Given the description of an element on the screen output the (x, y) to click on. 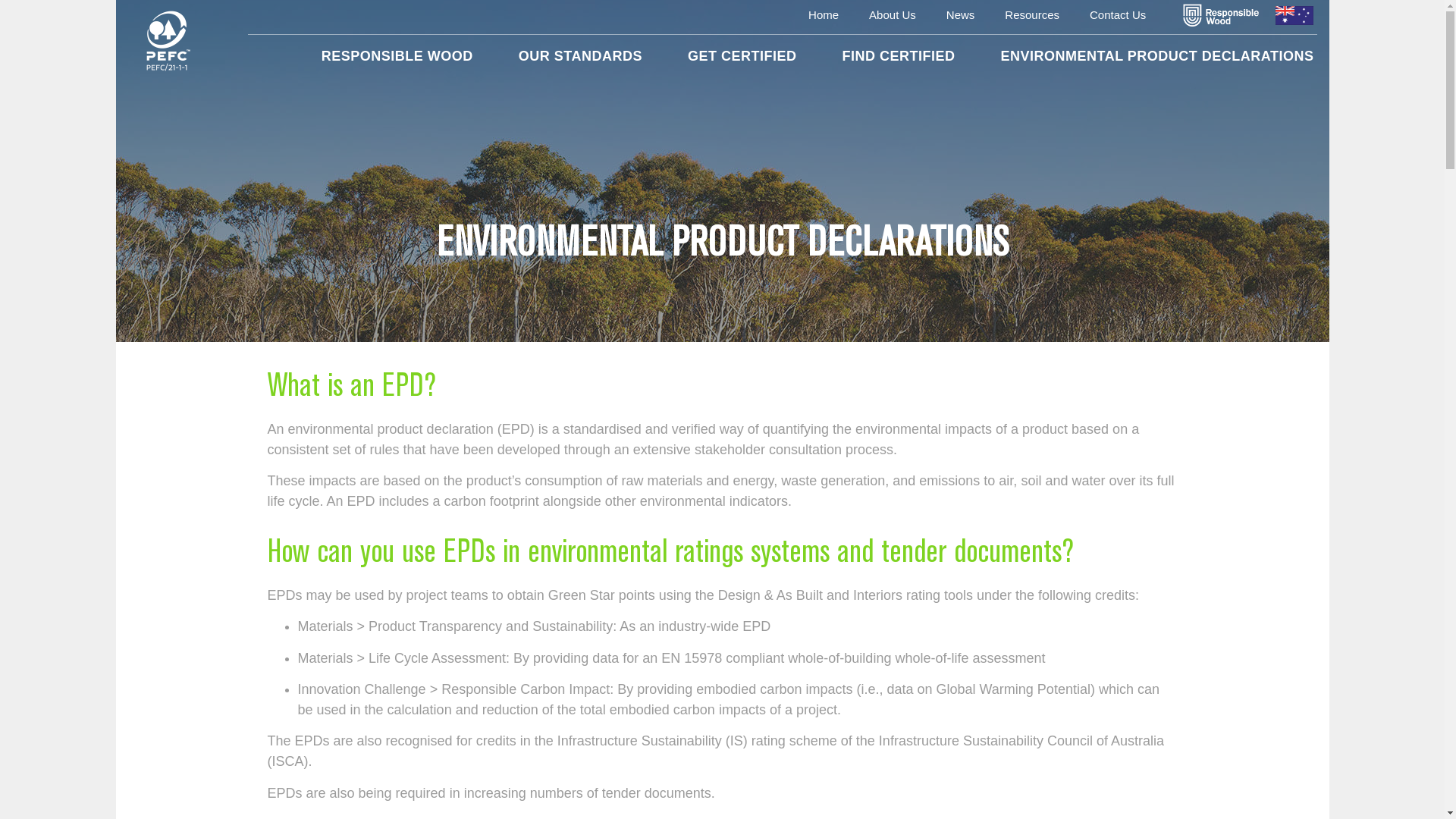
Contact Us Element type: text (1117, 14)
RESPONSIBLE WOOD Element type: text (397, 55)
Resources Element type: text (1031, 14)
About Us Element type: text (892, 14)
OUR STANDARDS Element type: text (580, 55)
ENVIRONMENTAL PRODUCT DECLARATIONS Element type: text (1156, 55)
Home Element type: text (823, 14)
GET CERTIFIED Element type: text (742, 55)
News Element type: text (960, 14)
FIND CERTIFIED Element type: text (897, 55)
